Given the description of an element on the screen output the (x, y) to click on. 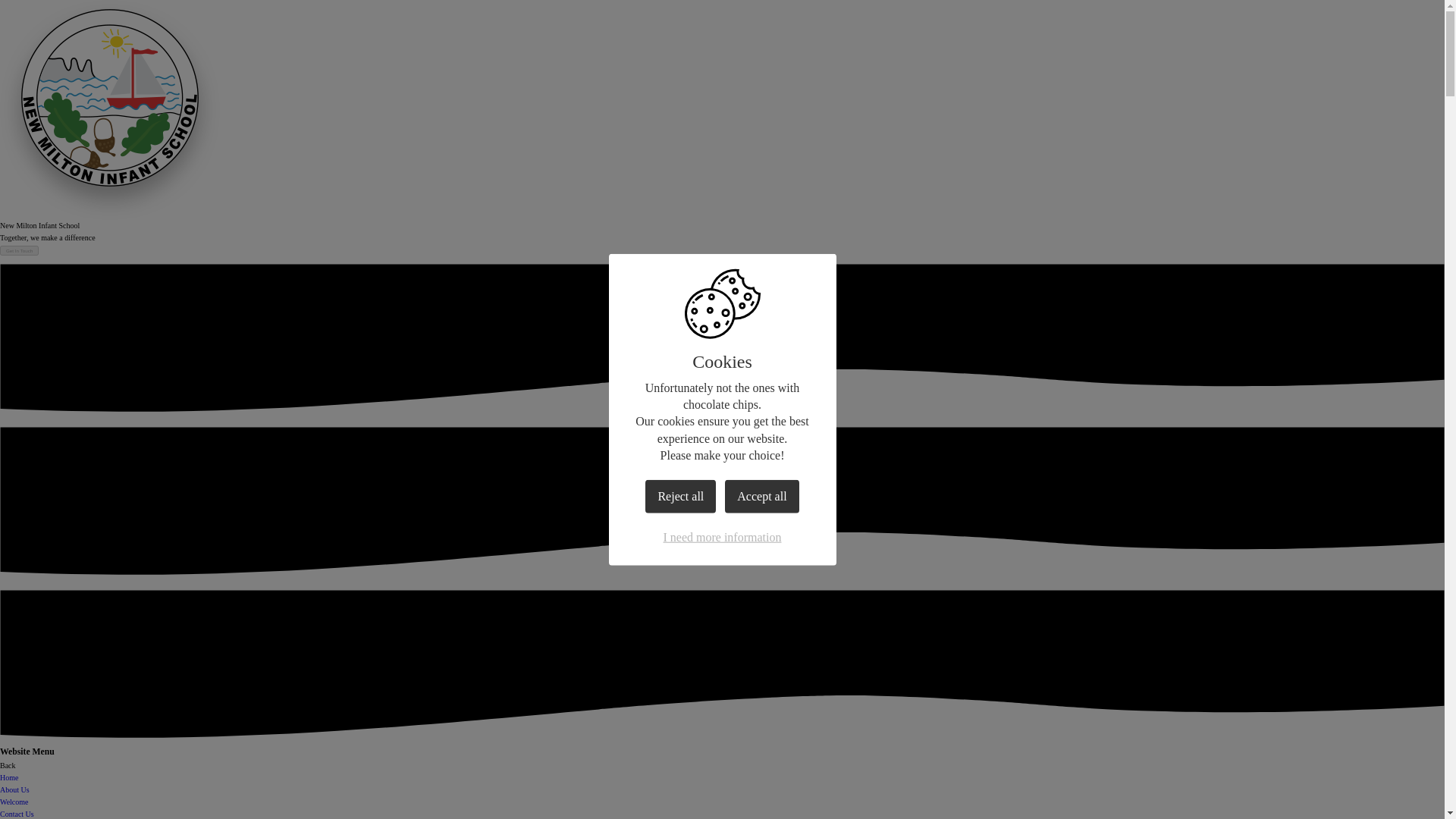
Home Page (109, 5)
About Us (14, 789)
Welcome (14, 801)
Home (8, 777)
Get In Touch (19, 250)
Contact Us (16, 813)
